Given the description of an element on the screen output the (x, y) to click on. 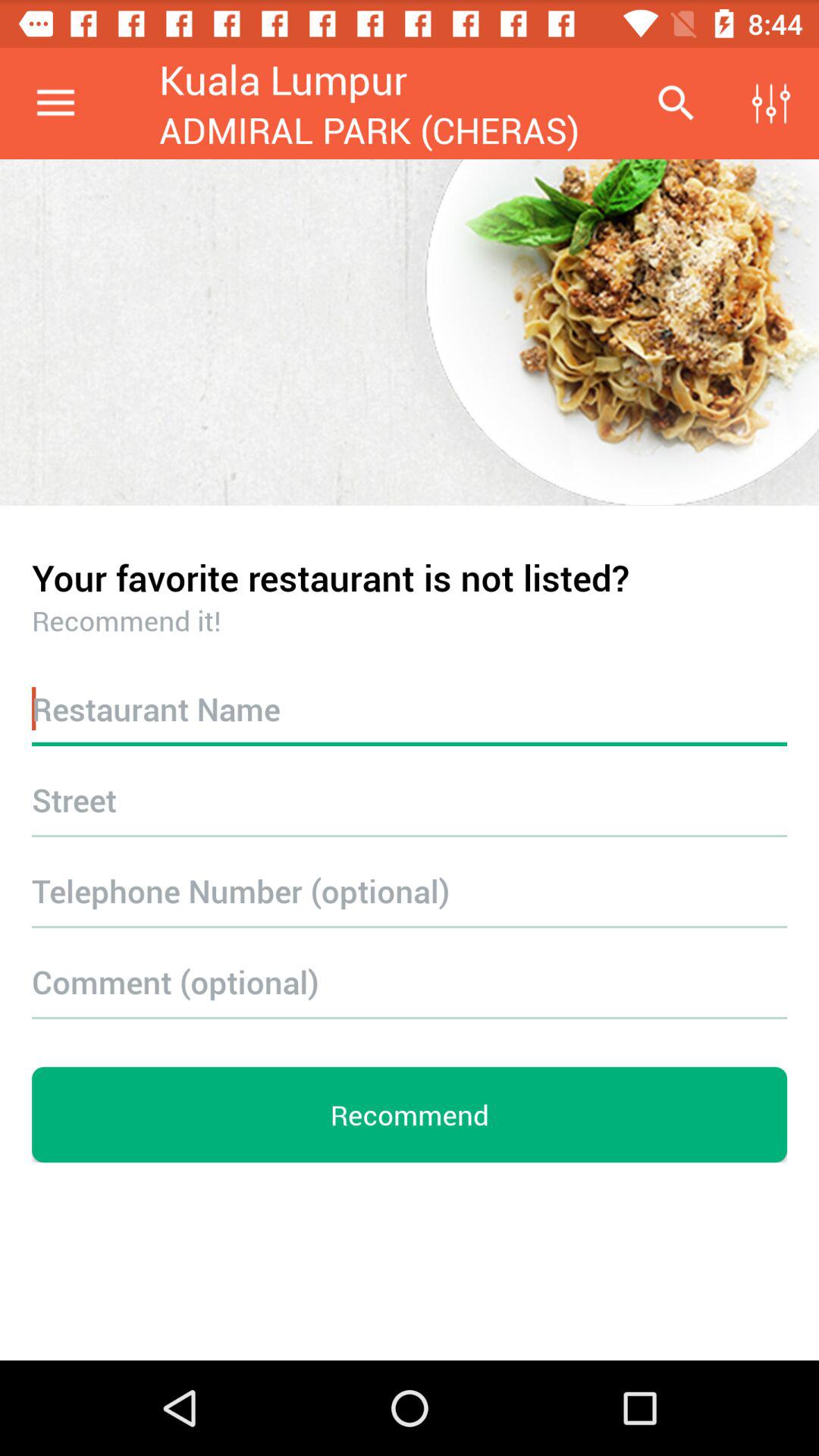
shows reataurant name area (409, 708)
